Given the description of an element on the screen output the (x, y) to click on. 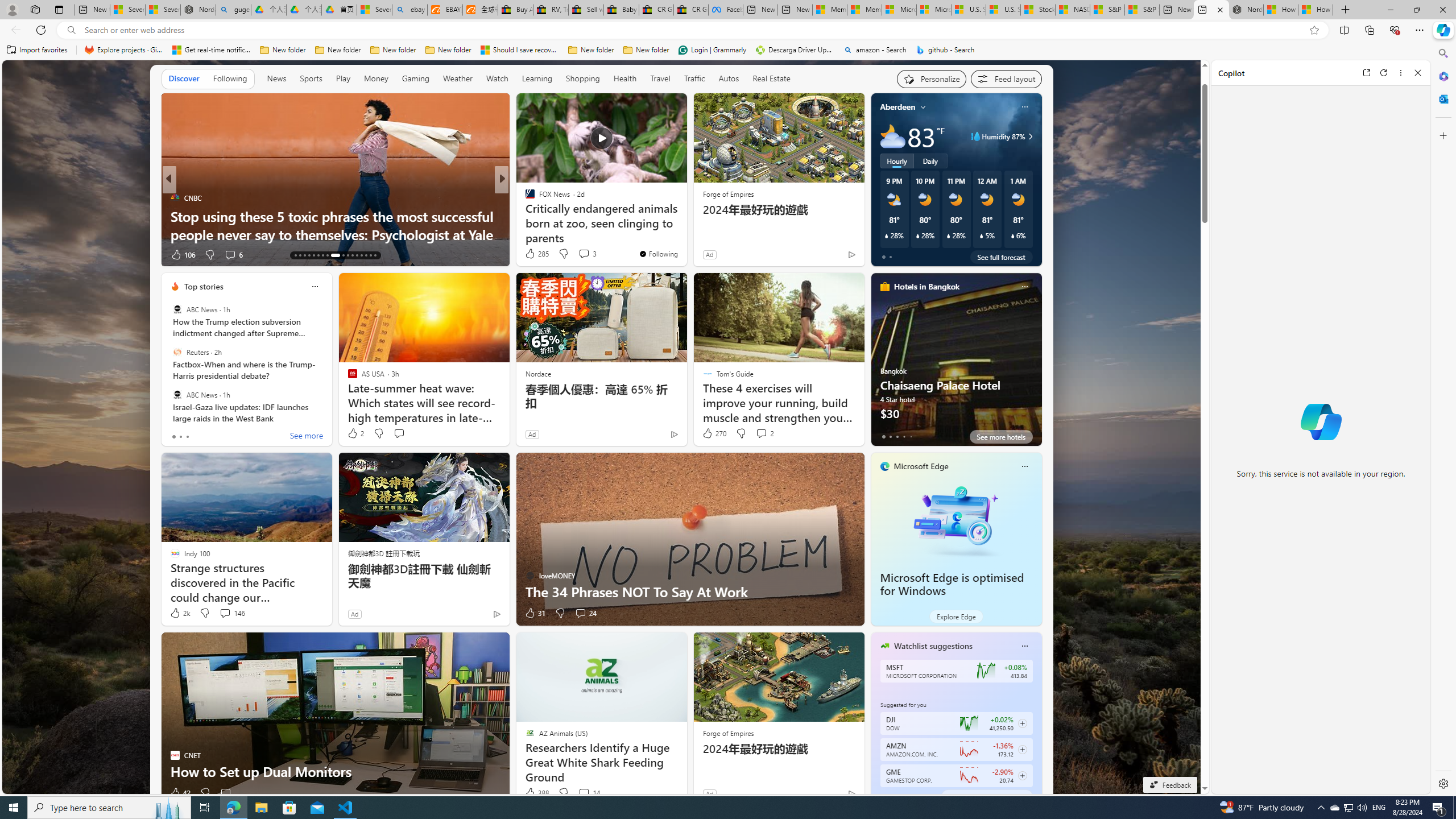
AutomationID: tab-42 (374, 255)
8 Like (529, 254)
AutomationID: tab-17 (313, 255)
Class: icon-img (1024, 645)
S&P 500, Nasdaq end lower, weighed by Nvidia dip | Watch (1141, 9)
View comments 3 Comment (583, 253)
AutomationID: tab-21 (331, 255)
Chaisaeng Palace Hotel (956, 363)
